Given the description of an element on the screen output the (x, y) to click on. 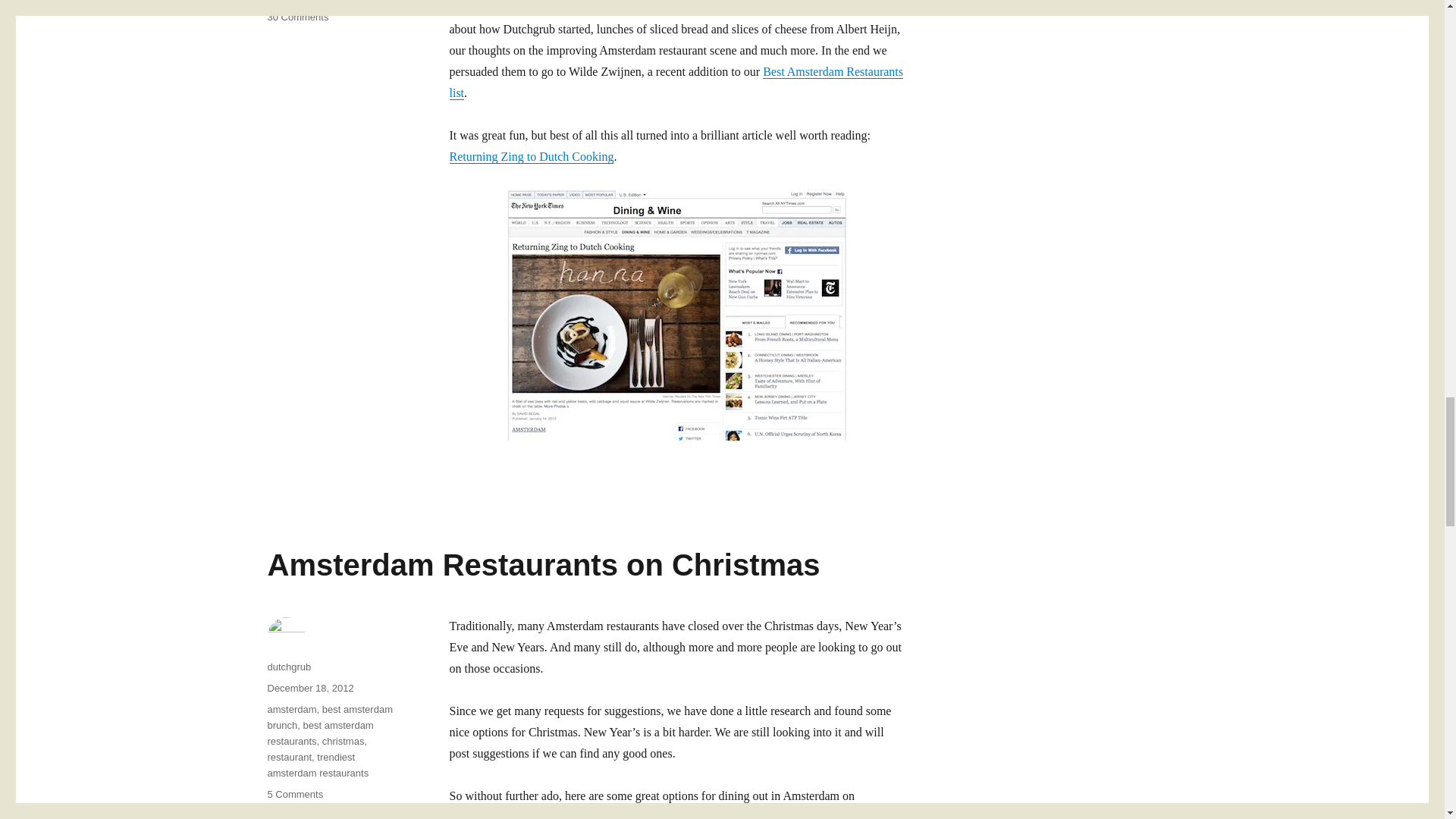
Best Amsterdam Brunch Places (777, 7)
Best Brunch in Amsterdam (777, 7)
